Given the description of an element on the screen output the (x, y) to click on. 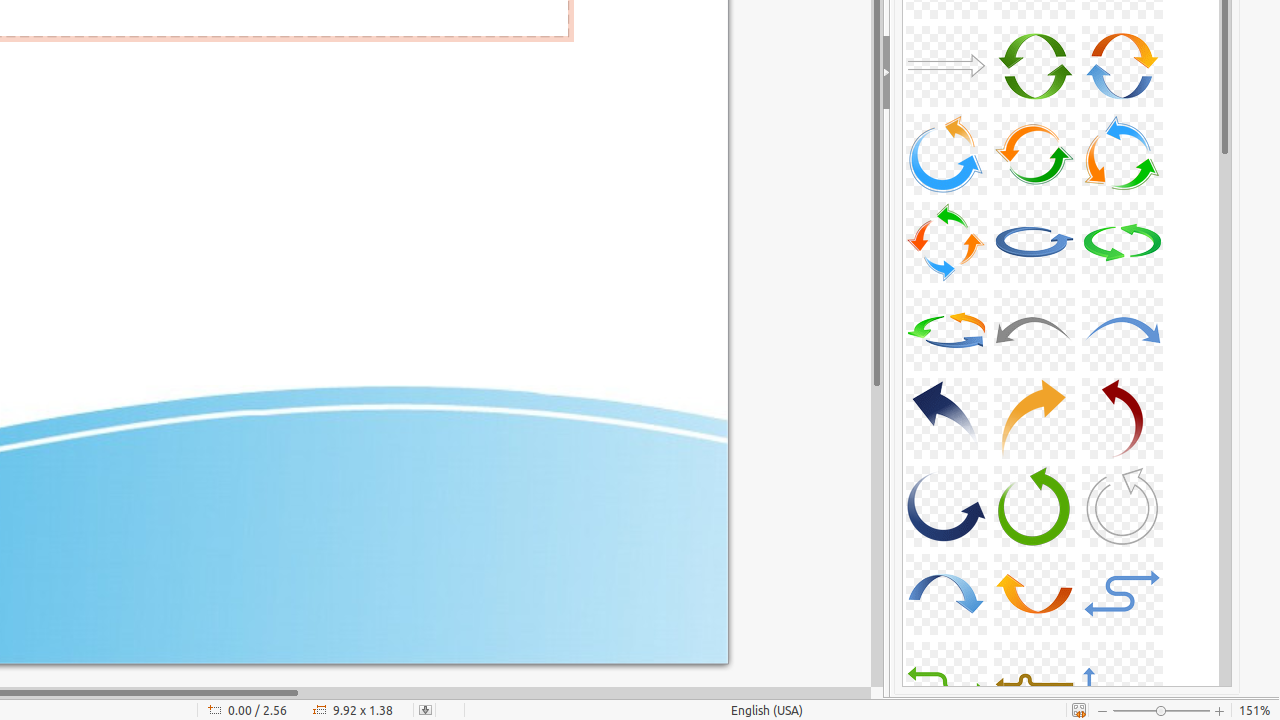
A14-CircleArrow-Green Element type: list-item (1034, 65)
